Given the description of an element on the screen output the (x, y) to click on. 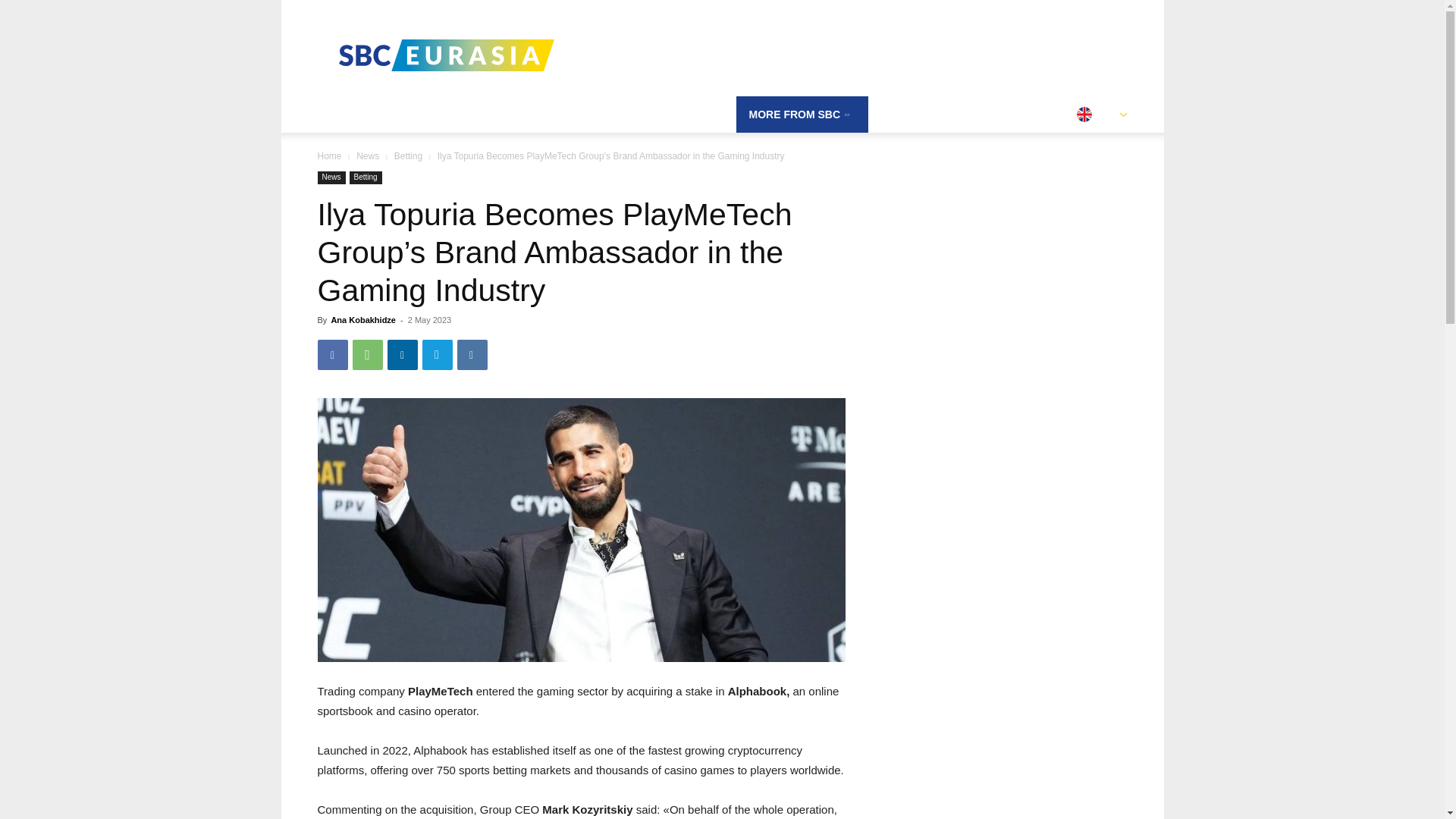
WhatsApp (366, 354)
Linkedin (401, 354)
View all posts in News (367, 155)
SBC Eurasia (445, 54)
VK (471, 354)
Telegram (436, 354)
Facebook (332, 354)
View all posts in Betting (408, 155)
